Given the description of an element on the screen output the (x, y) to click on. 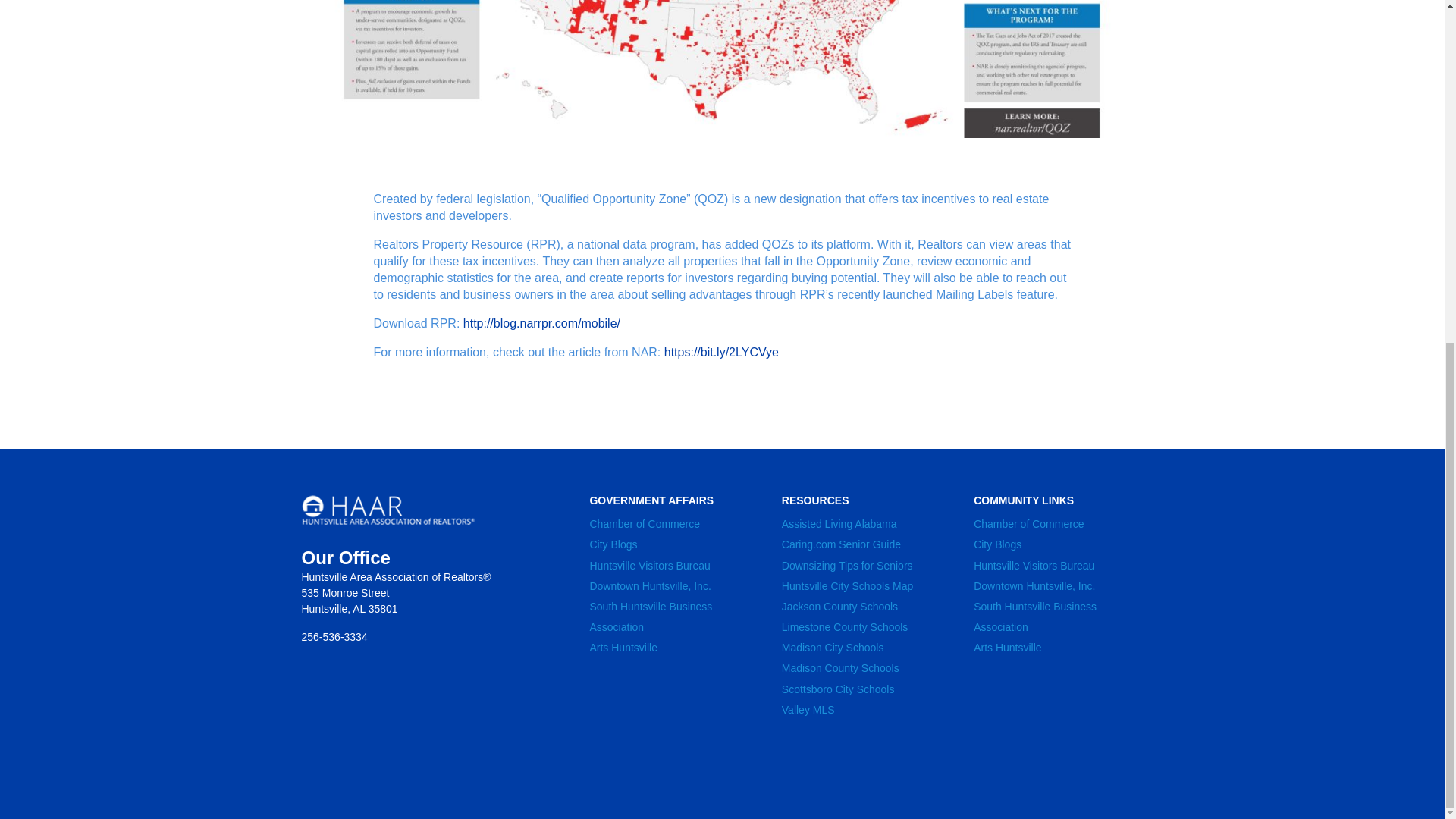
Chamber of Commerce (644, 523)
City Blogs (613, 544)
